Given the description of an element on the screen output the (x, y) to click on. 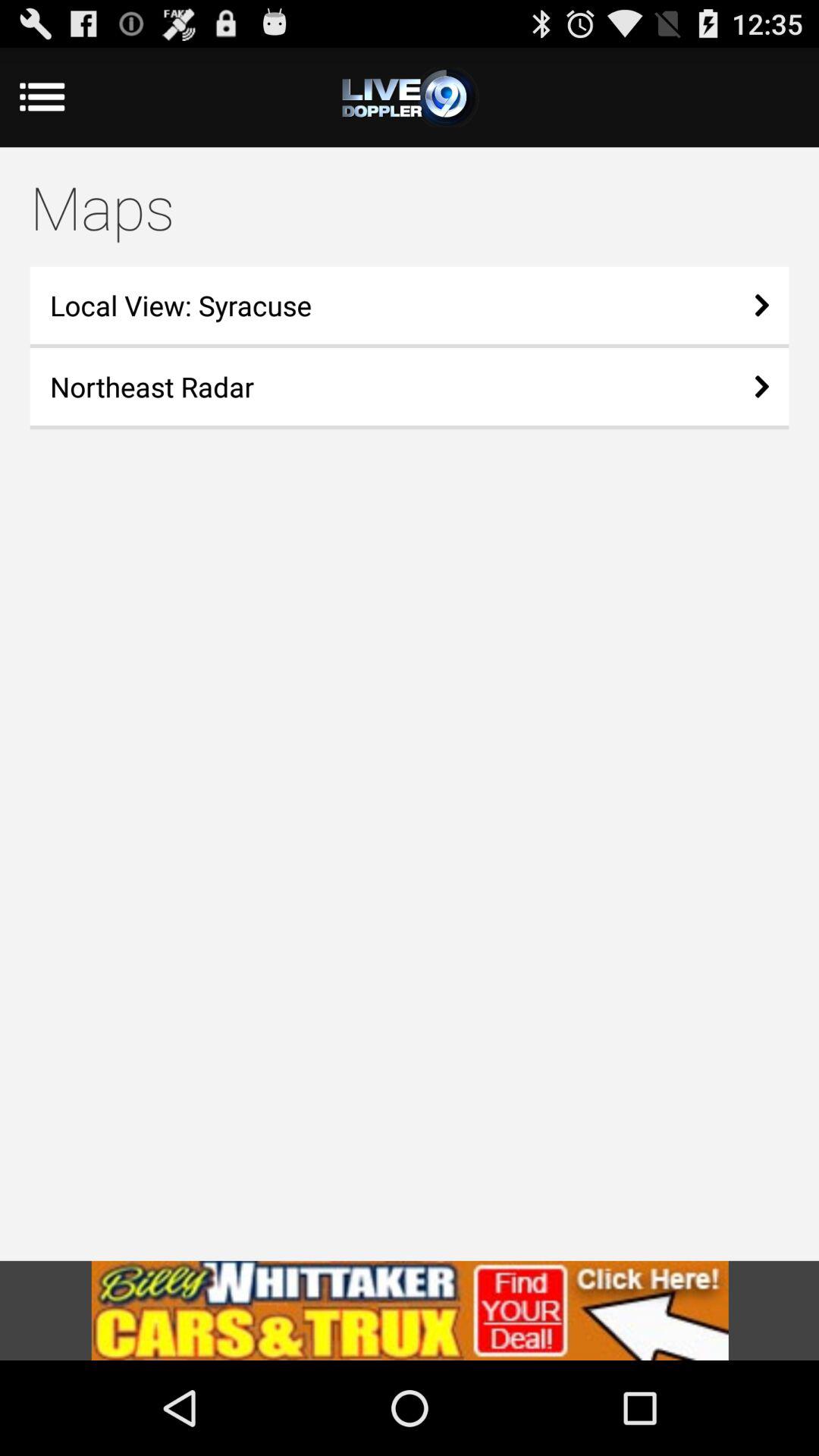
options (409, 97)
